Given the description of an element on the screen output the (x, y) to click on. 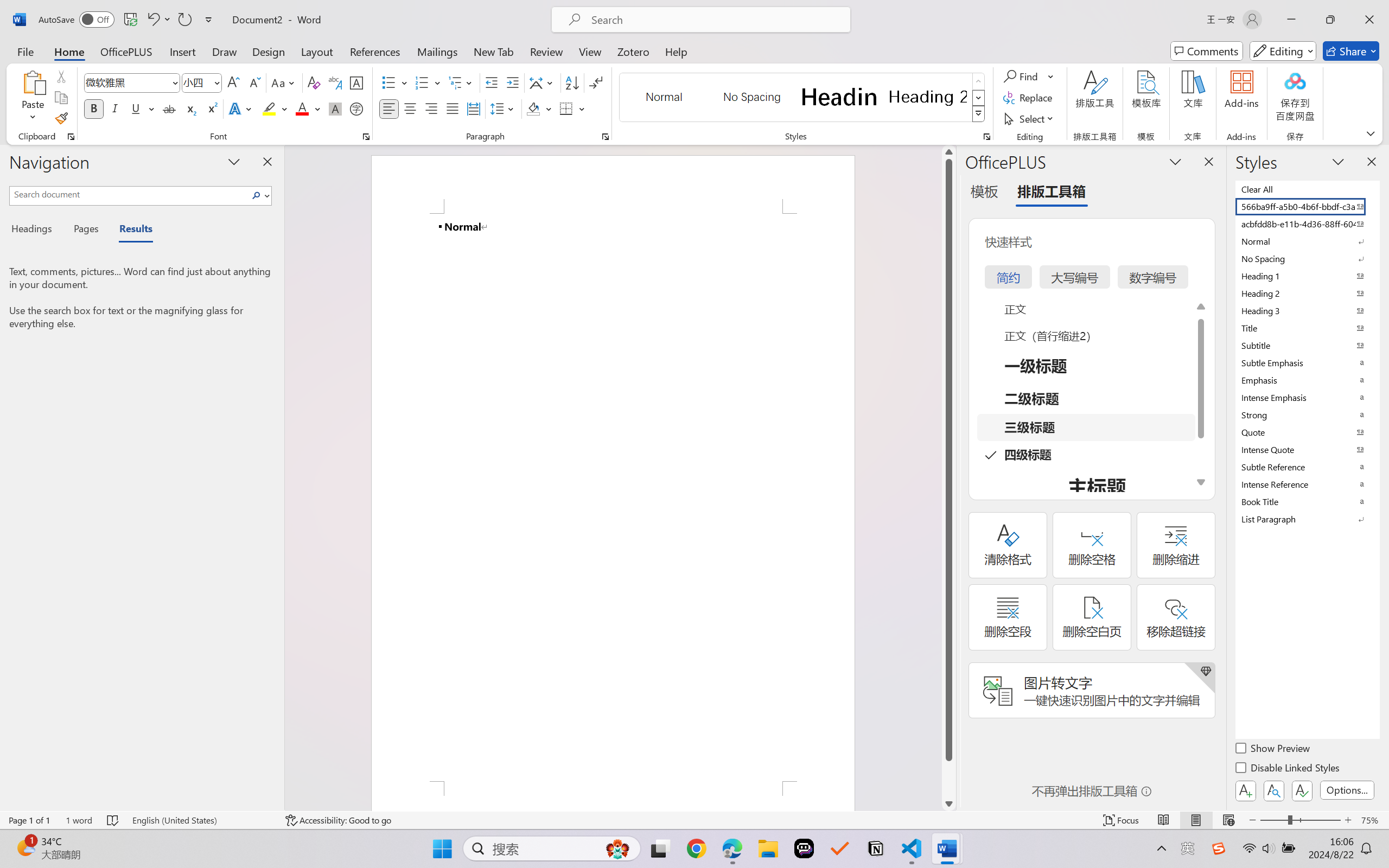
Shading (539, 108)
Class: Image (1218, 847)
Emphasis (1306, 379)
Help (675, 51)
Subscript (190, 108)
Draw (224, 51)
Undo <ApplyStyleToDoc>b__0 (152, 19)
AutoSave (76, 19)
Subtle Reference (1306, 466)
Heading 1 (839, 96)
Borders (571, 108)
